Given the description of an element on the screen output the (x, y) to click on. 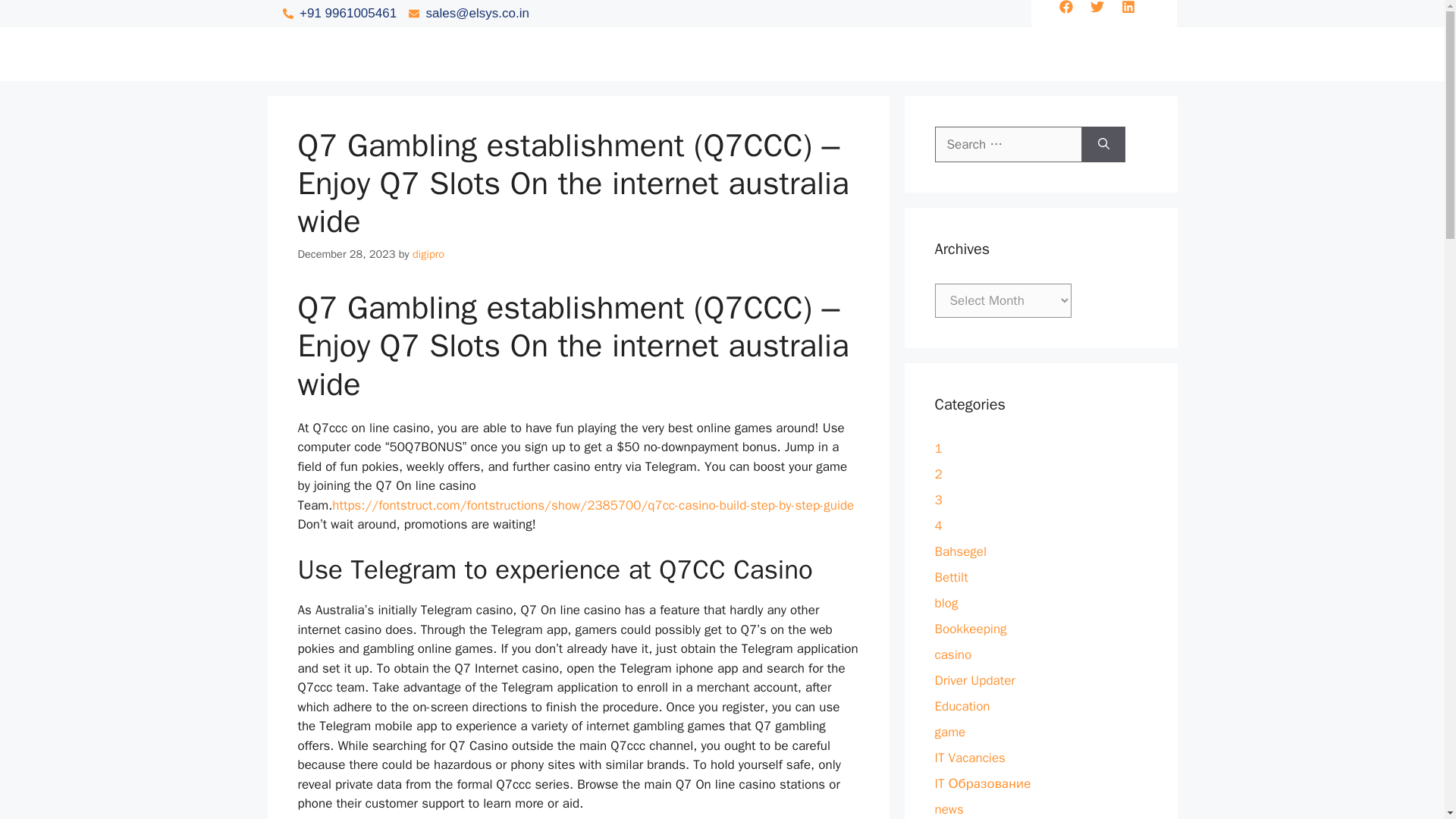
View all posts by digipro (428, 254)
Search for: (1007, 144)
